Given the description of an element on the screen output the (x, y) to click on. 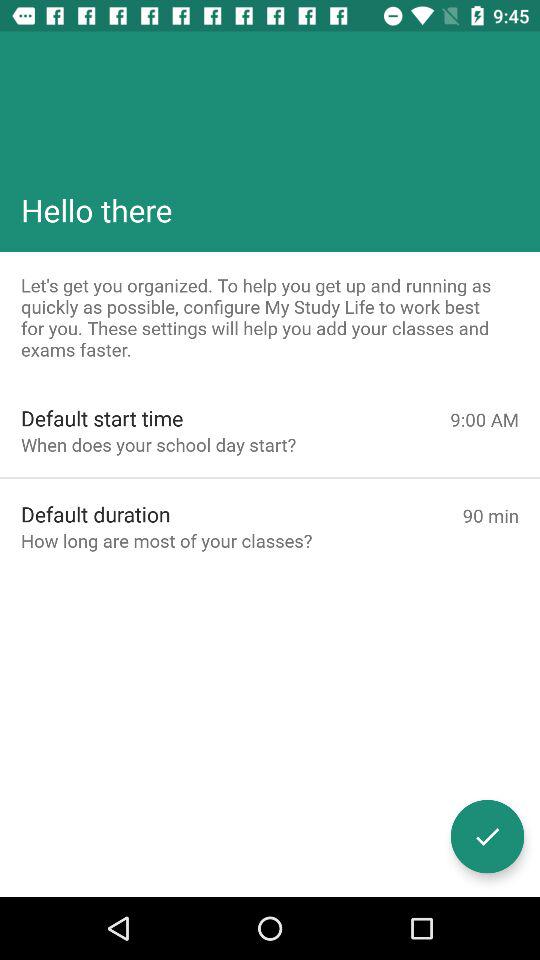
approves for processing (487, 836)
